Given the description of an element on the screen output the (x, y) to click on. 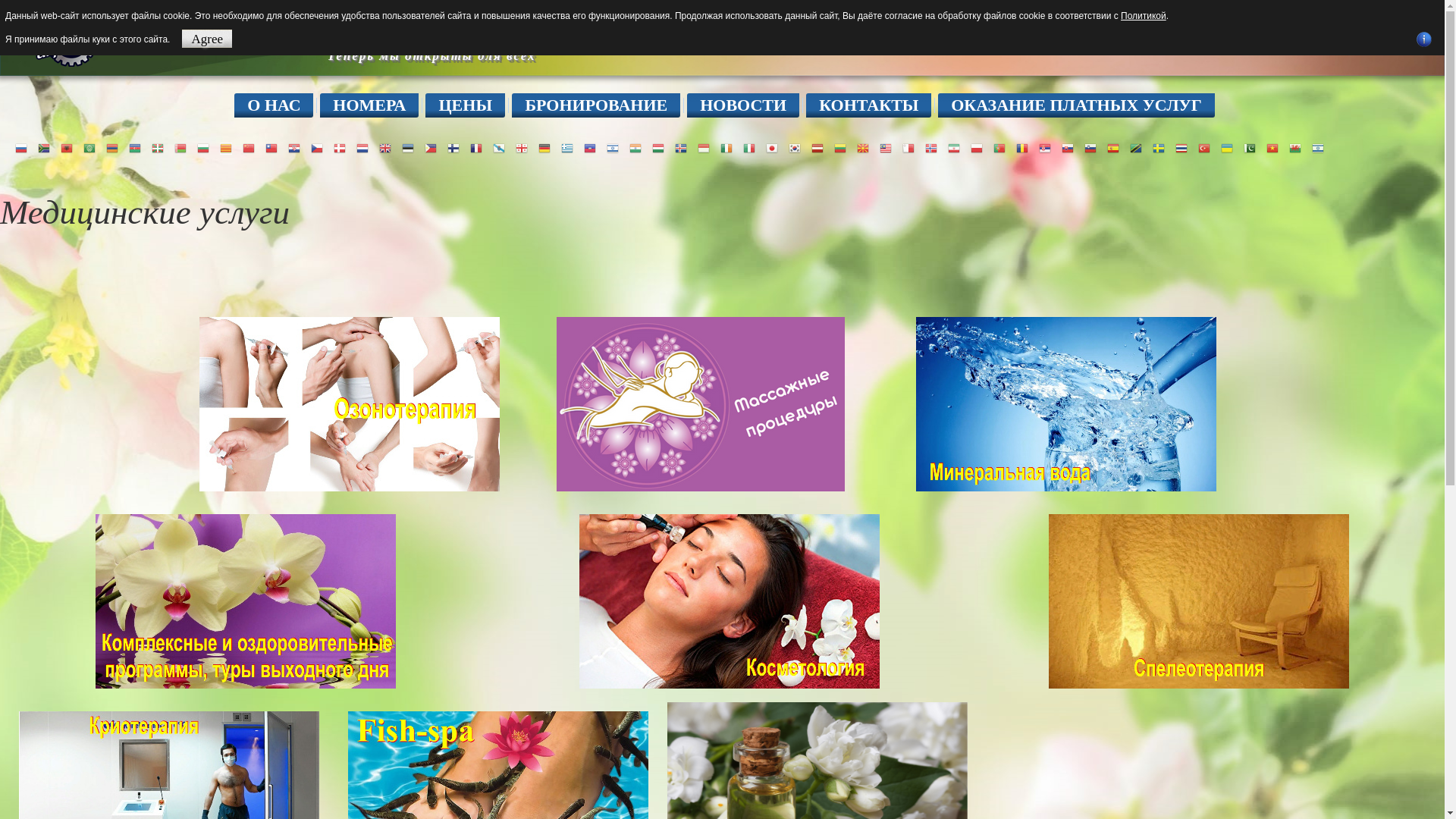
Romanian Element type: hover (1021, 146)
Georgian Element type: hover (521, 146)
Arabic Element type: hover (89, 146)
Polish Element type: hover (976, 146)
Turkish Element type: hover (1203, 146)
English Element type: hover (384, 146)
Chinese (Traditional) Element type: hover (271, 146)
Greek Element type: hover (566, 146)
Croatian Element type: hover (293, 146)
Italian Element type: hover (748, 146)
Basque Element type: hover (157, 146)
Danish Element type: hover (339, 146)
French Element type: hover (475, 146)
Catalan Element type: hover (225, 146)
Korean Element type: hover (794, 146)
Armenian Element type: hover (111, 146)
Slovenian Element type: hover (1090, 146)
Persian Element type: hover (953, 146)
Galician Element type: hover (498, 146)
Hungarian Element type: hover (657, 146)
Estonian Element type: hover (407, 146)
Swedish Element type: hover (1158, 146)
Indonesian Element type: hover (703, 146)
Norwegian Element type: hover (930, 146)
Serbian Element type: hover (1044, 146)
Chinese (Simplified) Element type: hover (248, 146)
Vietnamese Element type: hover (1272, 146)
Filipino Element type: hover (430, 146)
Azerbaijani Element type: hover (134, 146)
Czech Element type: hover (316, 146)
Latvian Element type: hover (817, 146)
Dutch Element type: hover (362, 146)
Finnish Element type: hover (453, 146)
Icelandic Element type: hover (680, 146)
Hindi Element type: hover (635, 146)
Maltese Element type: hover (908, 146)
German Element type: hover (544, 146)
Slovak Element type: hover (1067, 146)
Afrikaans Element type: hover (43, 146)
Haitian Creole Element type: hover (589, 146)
Swahili Element type: hover (1135, 146)
Thai Element type: hover (1181, 146)
Ukrainian Element type: hover (1226, 146)
Japanese Element type: hover (771, 146)
Welsh Element type: hover (1294, 146)
Albanian Element type: hover (66, 146)
EU Cookie Directive plugin by www.channeldigital.co.uk Element type: hover (1423, 39)
Urdu Element type: hover (1249, 146)
Bulgarian Element type: hover (202, 146)
Belarusian Element type: hover (180, 146)
Malay Element type: hover (885, 146)
Hebrew Element type: hover (612, 146)
Macedonian Element type: hover (862, 146)
Portuguese Element type: hover (999, 146)
Russian Element type: hover (20, 146)
Spanish Element type: hover (1112, 146)
Agree Element type: text (207, 38)
Irish Element type: hover (726, 146)
Yiddish Element type: hover (1317, 146)
Lithuanian Element type: hover (839, 146)
